Given the description of an element on the screen output the (x, y) to click on. 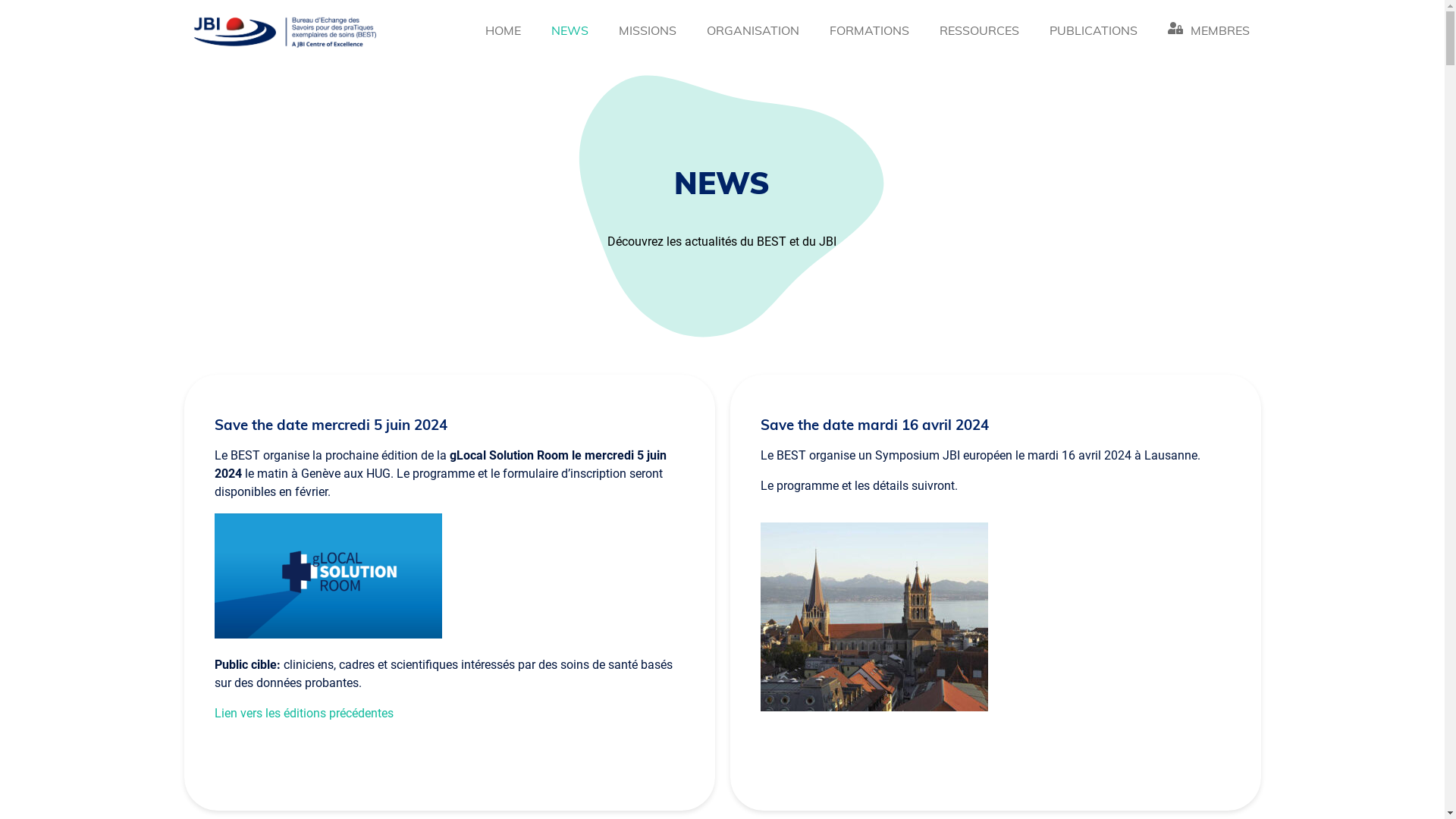
MEMBRES Element type: text (1208, 31)
PUBLICATIONS Element type: text (1093, 31)
ORGANISATION Element type: text (752, 31)
HOME Element type: text (502, 31)
NEWS Element type: text (569, 31)
MISSIONS Element type: text (647, 31)
FORMATIONS Element type: text (869, 31)
RESSOURCES Element type: text (978, 31)
